Given the description of an element on the screen output the (x, y) to click on. 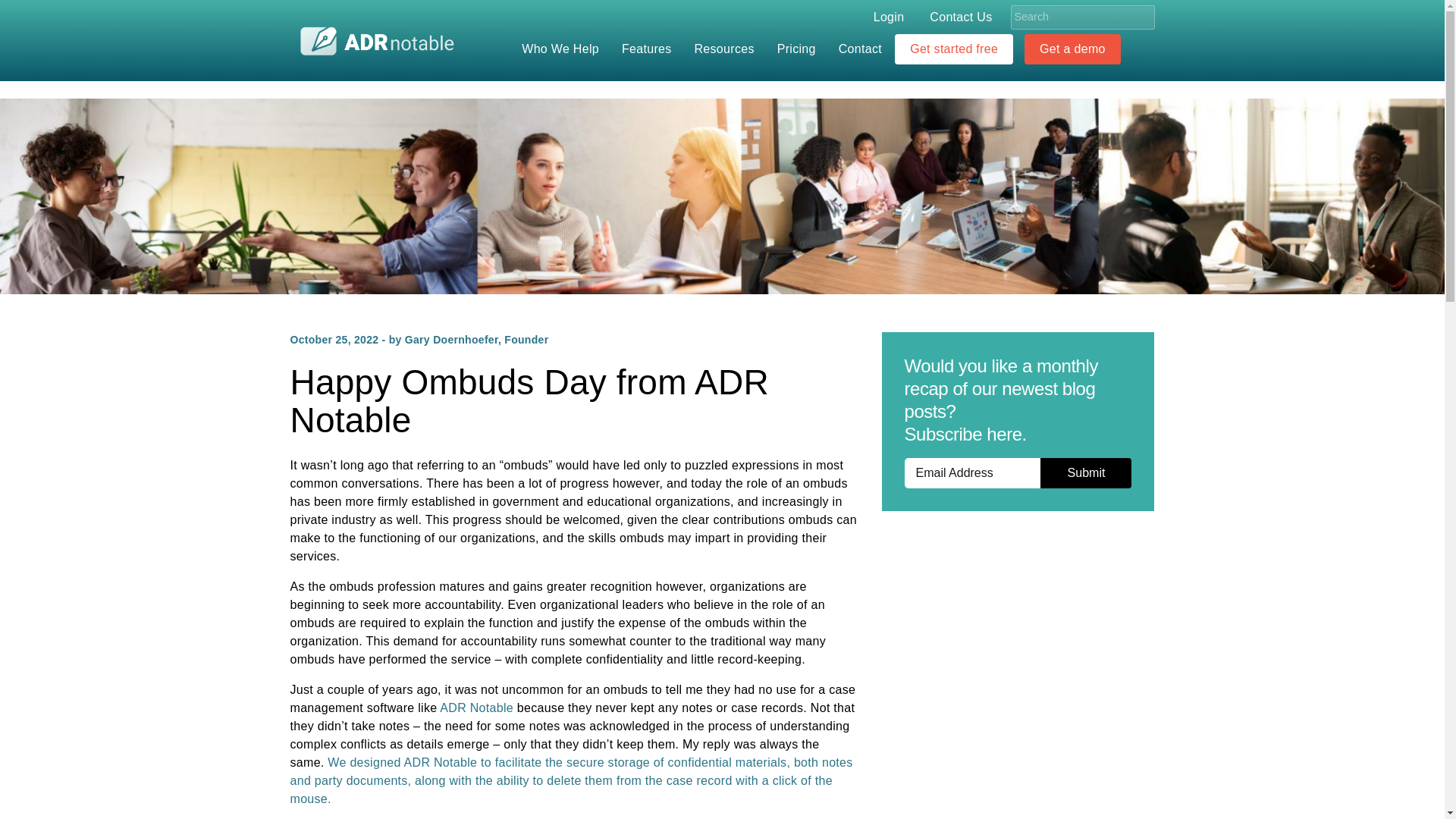
Resources (728, 49)
Contact (863, 49)
Submit (1086, 472)
Pricing (800, 49)
Features (650, 49)
Login (888, 17)
Contact Us (960, 17)
Who We Help (563, 49)
